Given the description of an element on the screen output the (x, y) to click on. 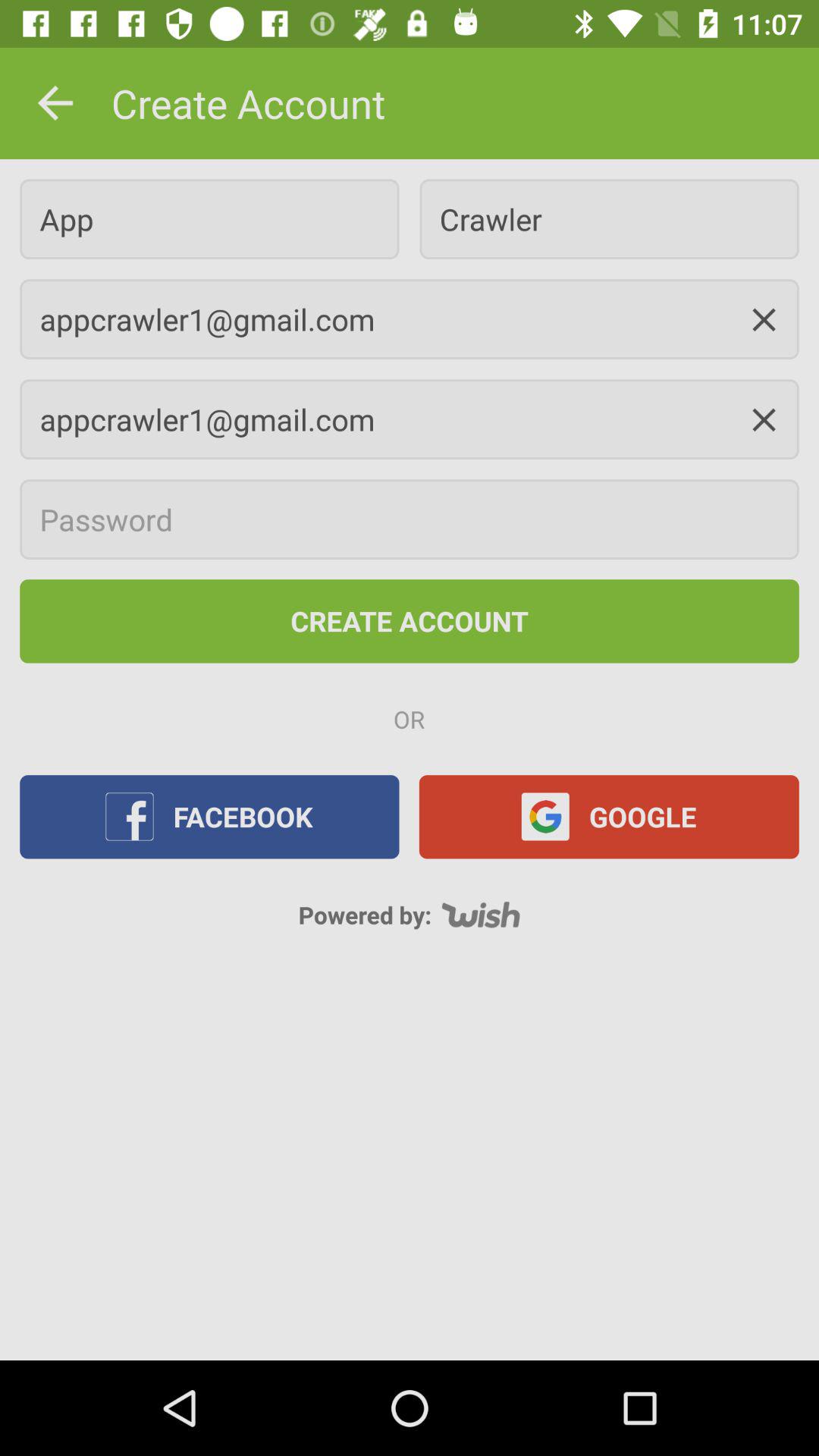
turn off icon above appcrawler1@gmail.com icon (209, 219)
